Given the description of an element on the screen output the (x, y) to click on. 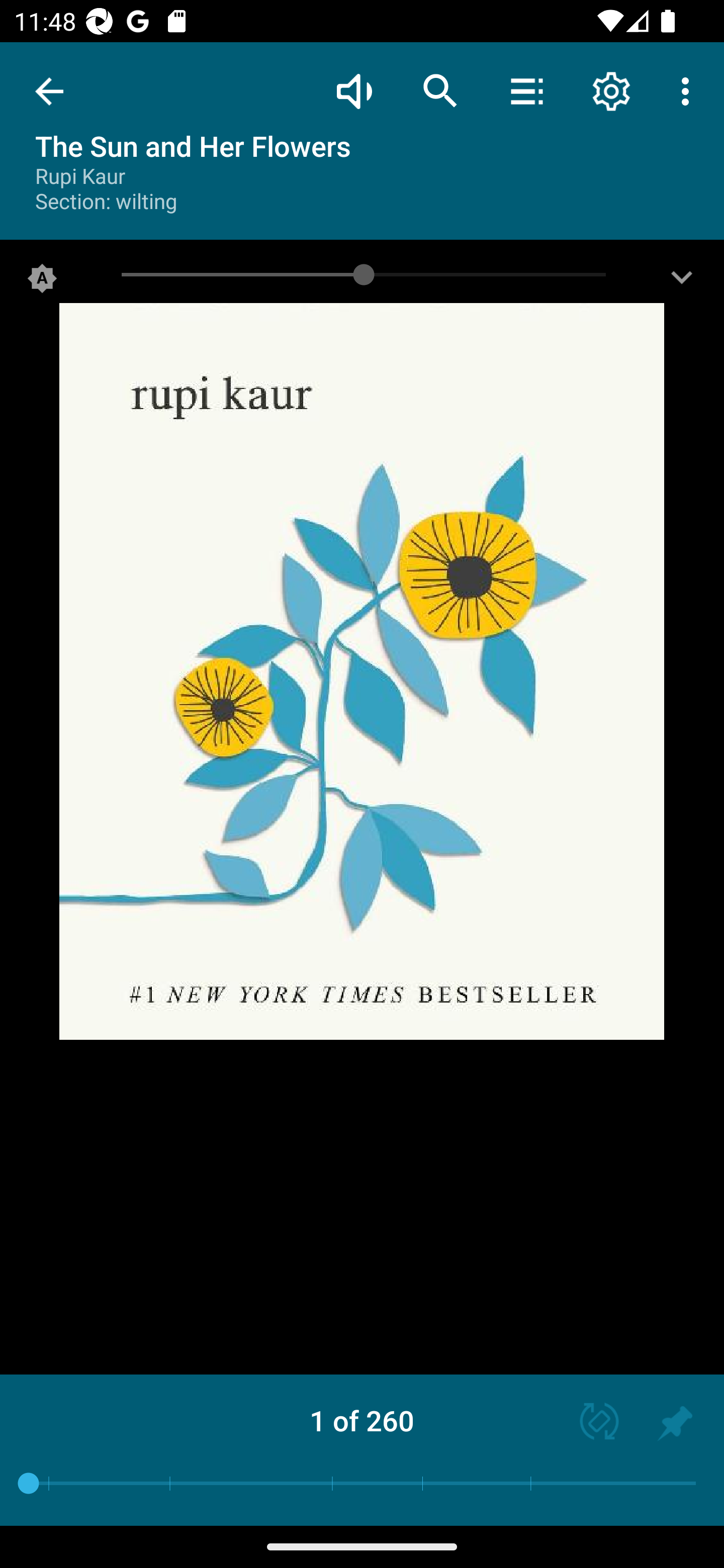
Exit reading (49, 91)
Read aloud (354, 90)
Text search (440, 90)
Contents / Bookmarks / Quotes (526, 90)
Reading settings (611, 90)
More options (688, 90)
Selected screen brightness (42, 281)
Screen brightness settings (681, 281)
1 of 260 (361, 1420)
Screen orientation (590, 1423)
Add to history (674, 1423)
